Given the description of an element on the screen output the (x, y) to click on. 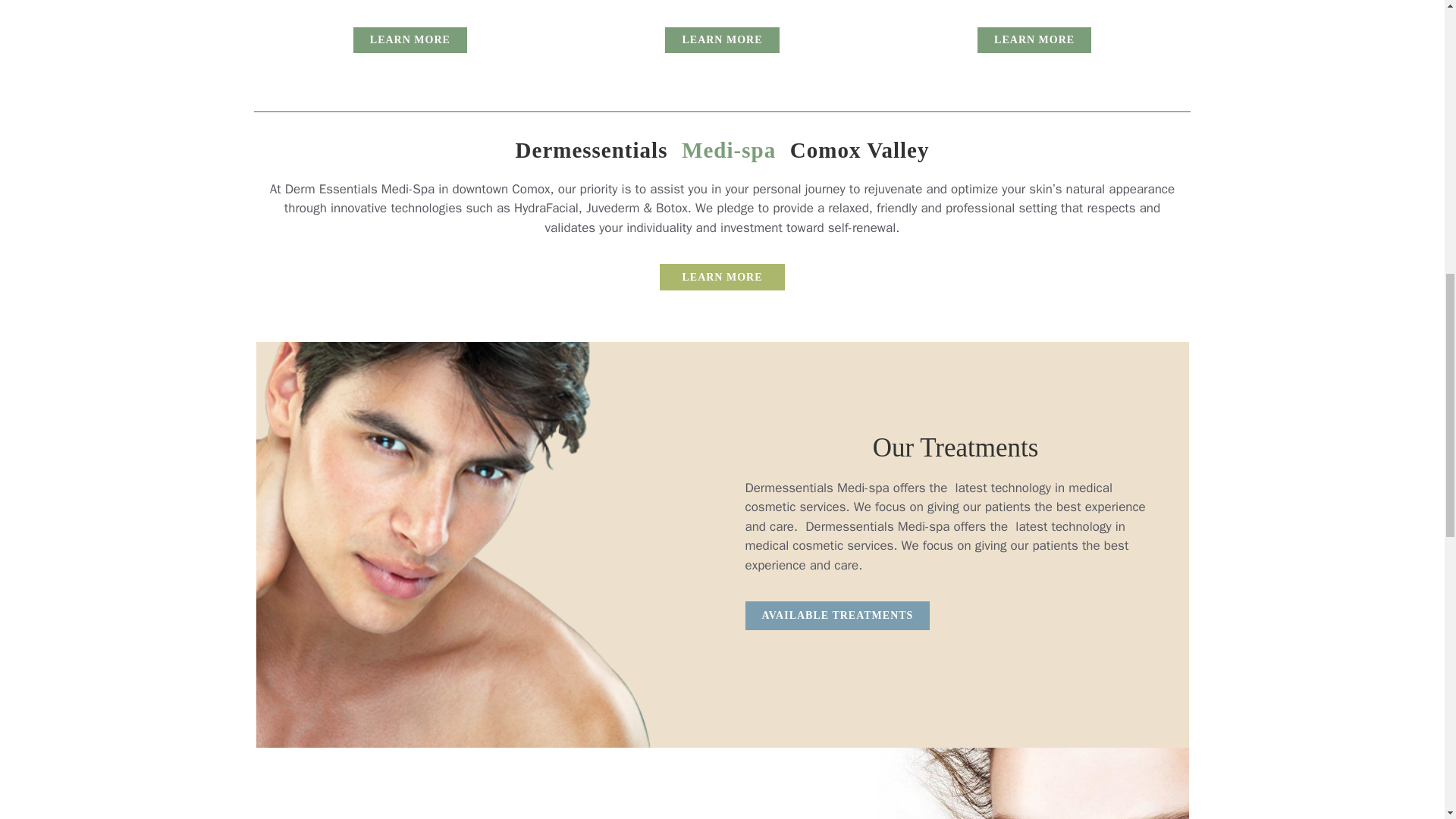
Botox (721, 40)
Hydrafacial (1033, 40)
CoolSculpting (410, 40)
Botox (721, 276)
